Given the description of an element on the screen output the (x, y) to click on. 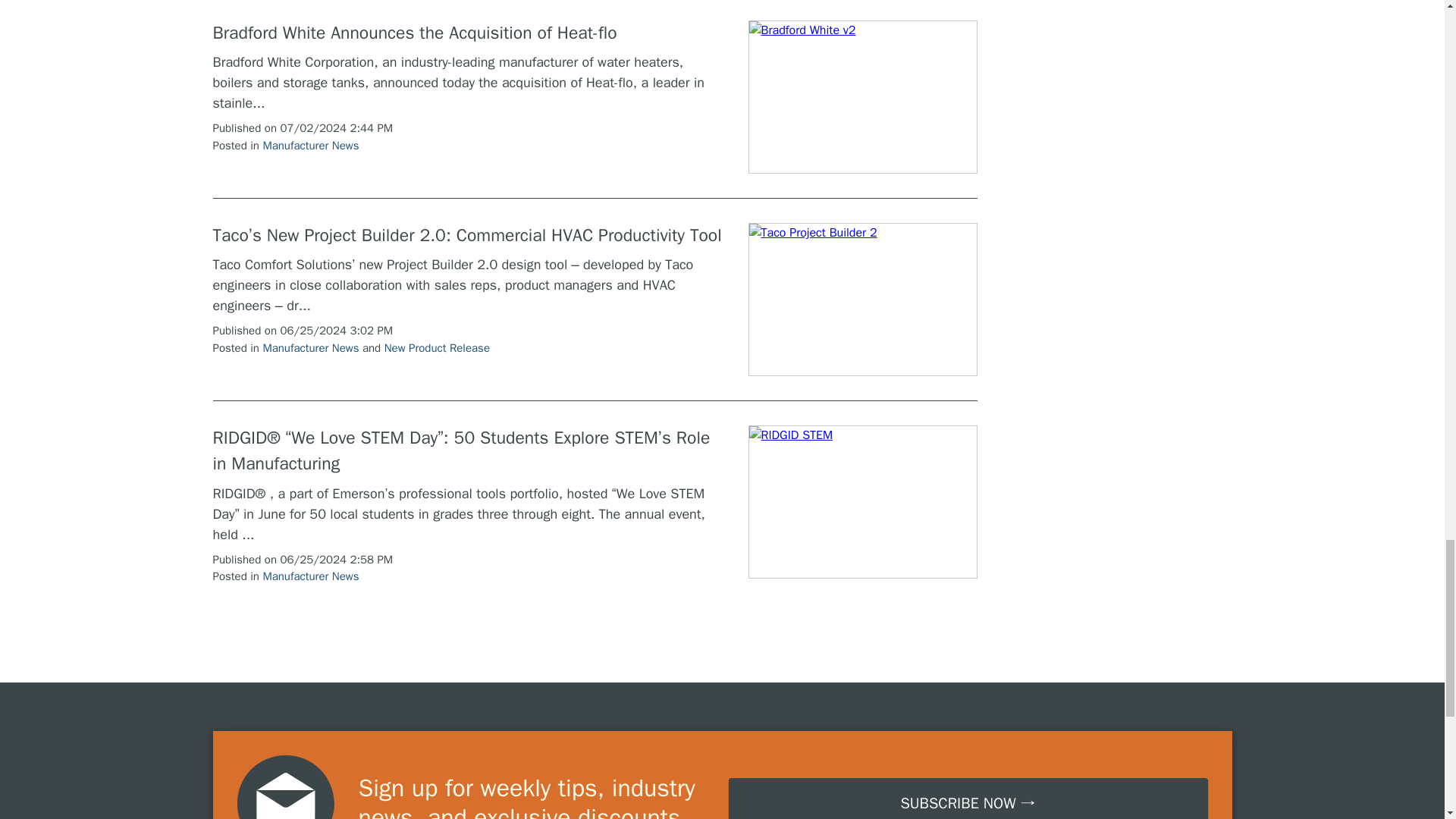
New Product Release (436, 347)
Manufacturer News (310, 576)
Manufacturer News (310, 145)
Manufacturer News (310, 347)
